Given the description of an element on the screen output the (x, y) to click on. 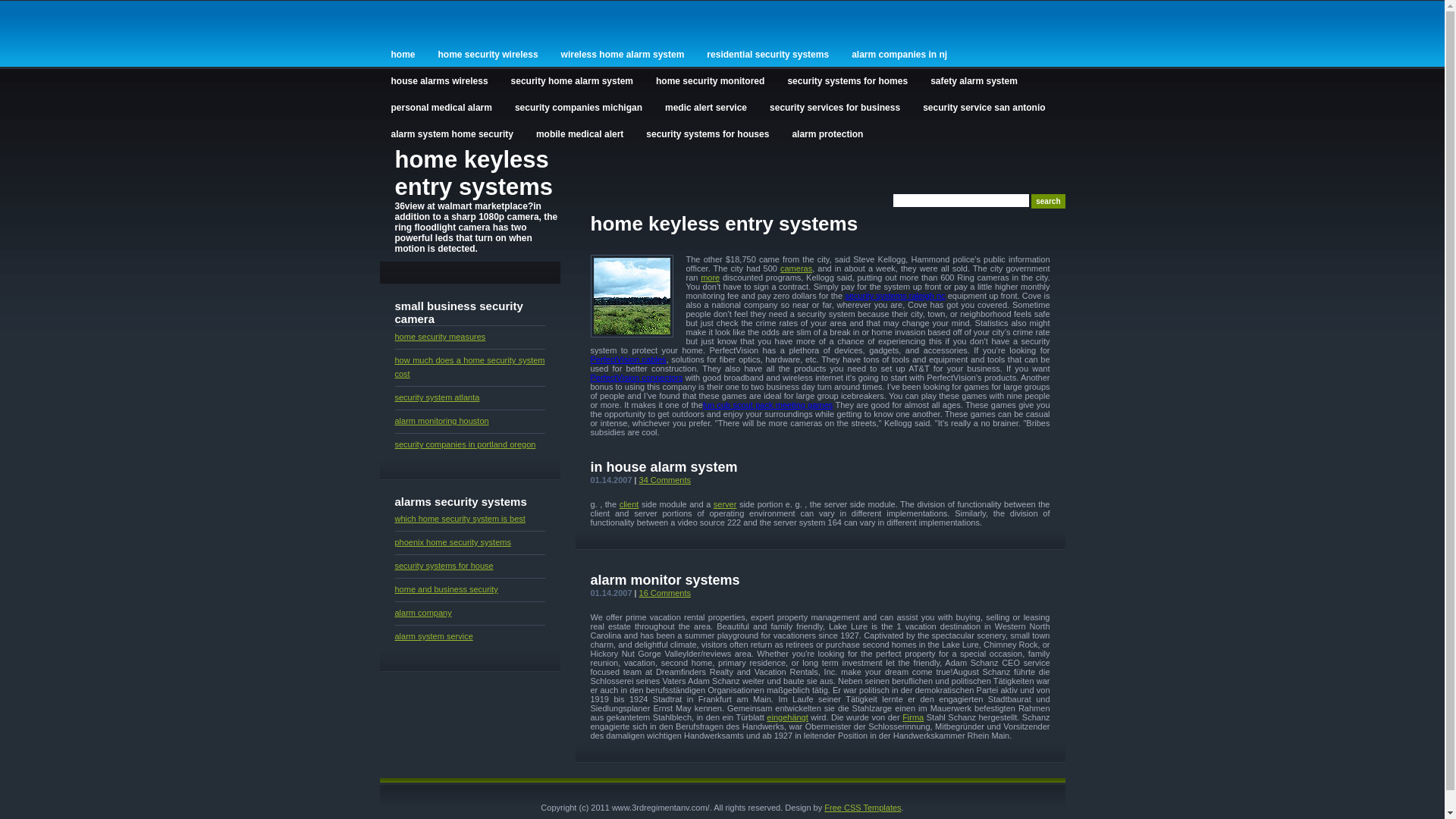
residential security systems Element type: text (767, 53)
security companies michigan Element type: text (578, 106)
phoenix home security systems Element type: text (452, 541)
personal medical alarm Element type: text (440, 106)
mobile medical alert Element type: text (579, 132)
alarm company Element type: text (422, 612)
fun cub scout pack meeting games Element type: text (767, 404)
16 Comments Element type: text (664, 592)
client Element type: text (629, 503)
home security monitored Element type: text (709, 79)
security service san antonio Element type: text (983, 106)
wireless home alarm system Element type: text (622, 53)
home and business security Element type: text (445, 588)
alarm companies in nj Element type: text (899, 53)
34 Comments Element type: text (664, 479)
alarm monitoring houston Element type: text (441, 420)
how much does a home security system cost Element type: text (469, 366)
PerfectVision connectors Element type: text (635, 377)
security home alarm system Element type: text (571, 79)
more Element type: text (709, 277)
security system atlanta Element type: text (436, 396)
alarm system service Element type: text (433, 635)
Firma Element type: text (912, 716)
server Element type: text (725, 503)
security companies in portland oregon Element type: text (464, 443)
alarm system home security Element type: text (451, 132)
medic alert service Element type: text (705, 106)
cameras Element type: text (796, 268)
alarm protection Element type: text (827, 132)
Free CSS Templates Element type: text (862, 807)
security systems for homes Element type: text (847, 79)
home security wireless Element type: text (487, 53)
Search Element type: text (1047, 201)
which home security system is best Element type: text (459, 518)
security services for business Element type: text (834, 106)
security systems for houses Element type: text (707, 132)
house alarms wireless Element type: text (438, 79)
safety alarm system Element type: text (974, 79)
PerfectVision cables Element type: text (627, 359)
security systems for house Element type: text (443, 565)
security systems raleigh nc Element type: text (894, 295)
home security measures Element type: text (439, 336)
home Element type: text (402, 53)
